Given the description of an element on the screen output the (x, y) to click on. 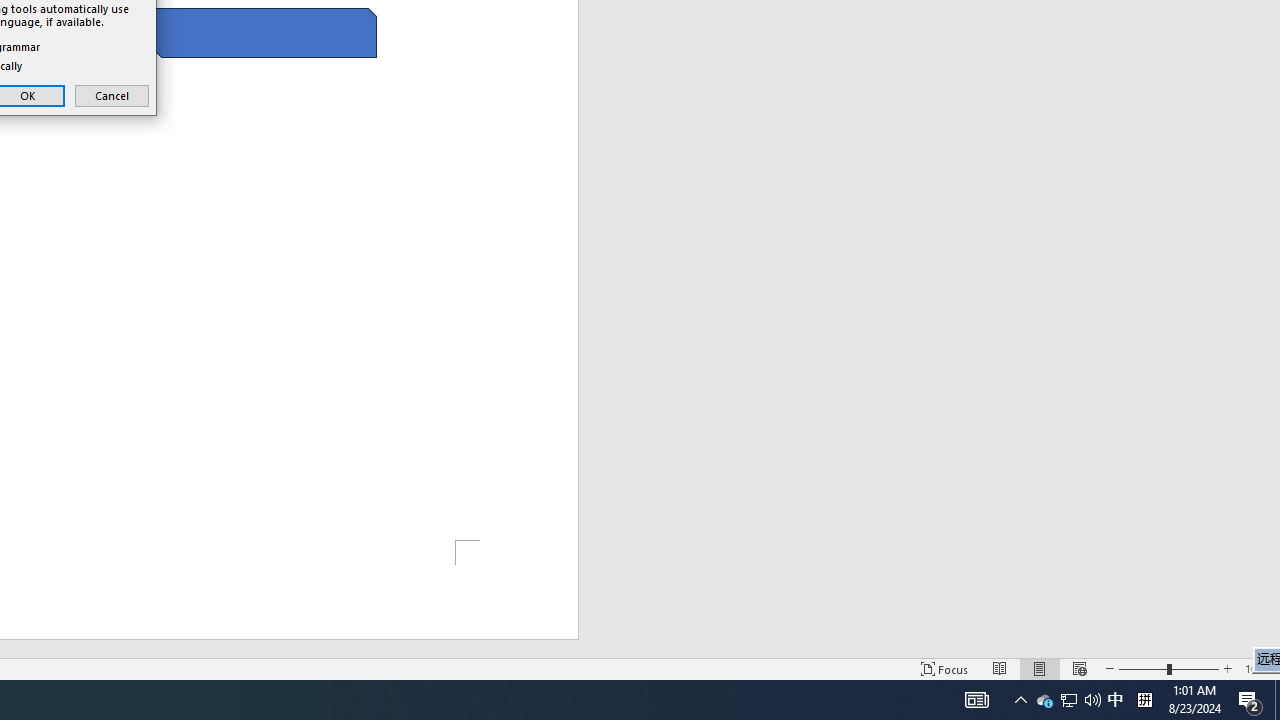
Zoom 104% (1258, 668)
Tray Input Indicator - Chinese (Simplified, China) (1144, 699)
